Given the description of an element on the screen output the (x, y) to click on. 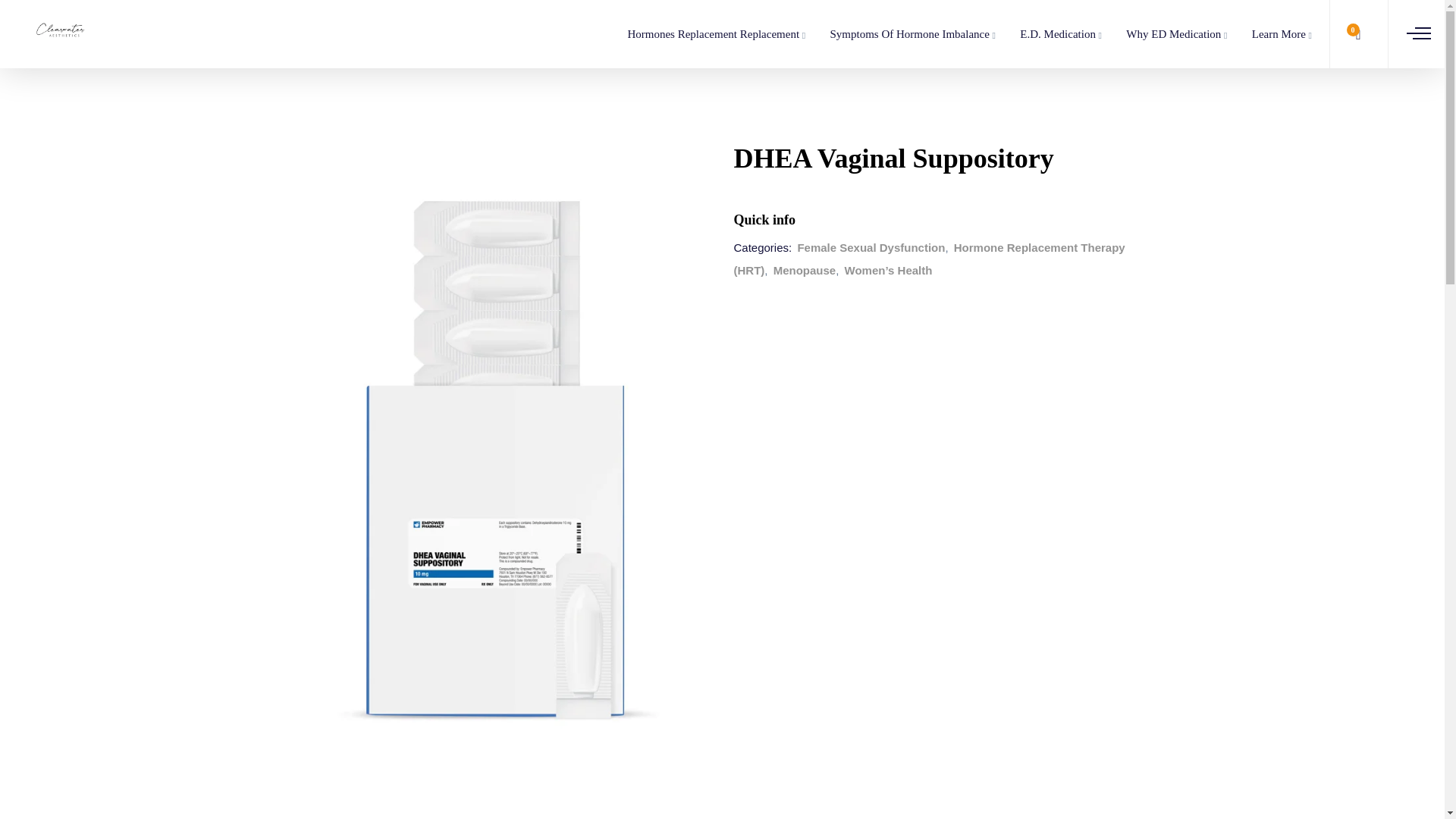
E.D. Medication (1058, 33)
Symptoms Of Hormone Imbalance (909, 33)
Why ED Medication (1173, 33)
0 (1360, 33)
Hormones Replacement Replacement (713, 33)
